Given the description of an element on the screen output the (x, y) to click on. 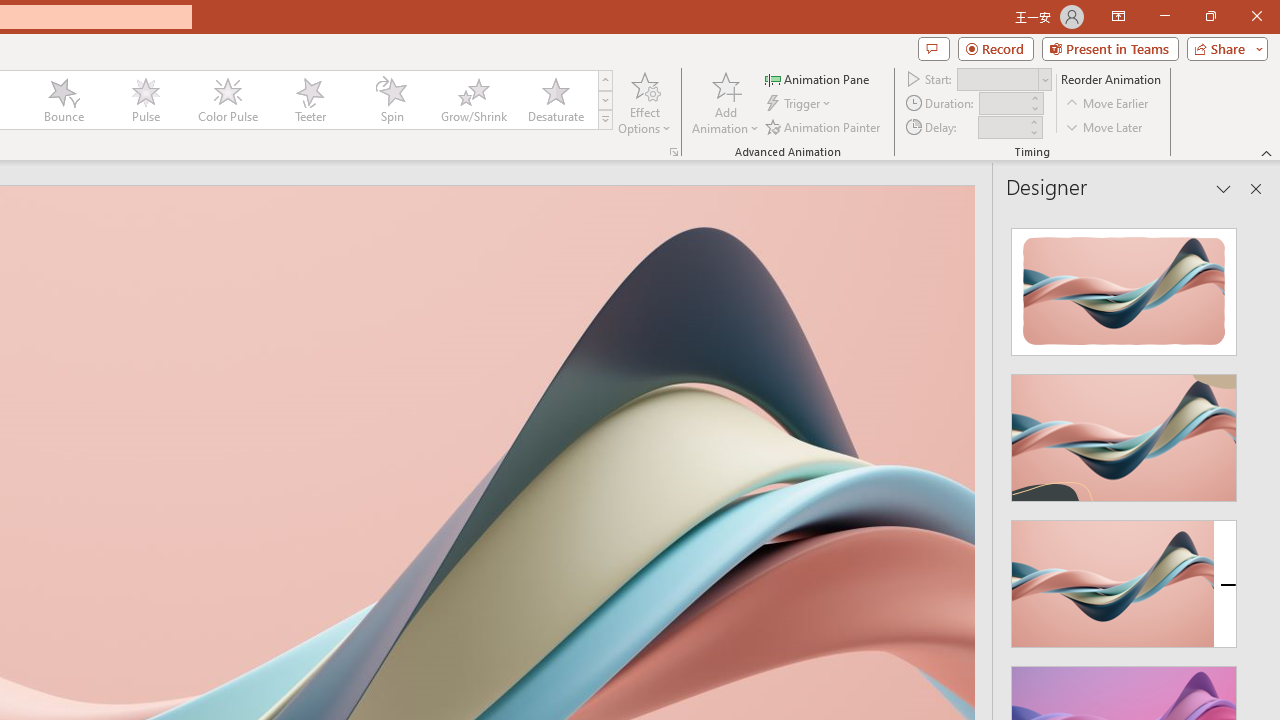
Grow/Shrink (473, 100)
Desaturate (555, 100)
Move Earlier (1107, 103)
Trigger (799, 103)
Animation Styles (605, 120)
Recommended Design: Design Idea (1124, 286)
More Options... (673, 151)
Animation Duration (1003, 103)
